Given the description of an element on the screen output the (x, y) to click on. 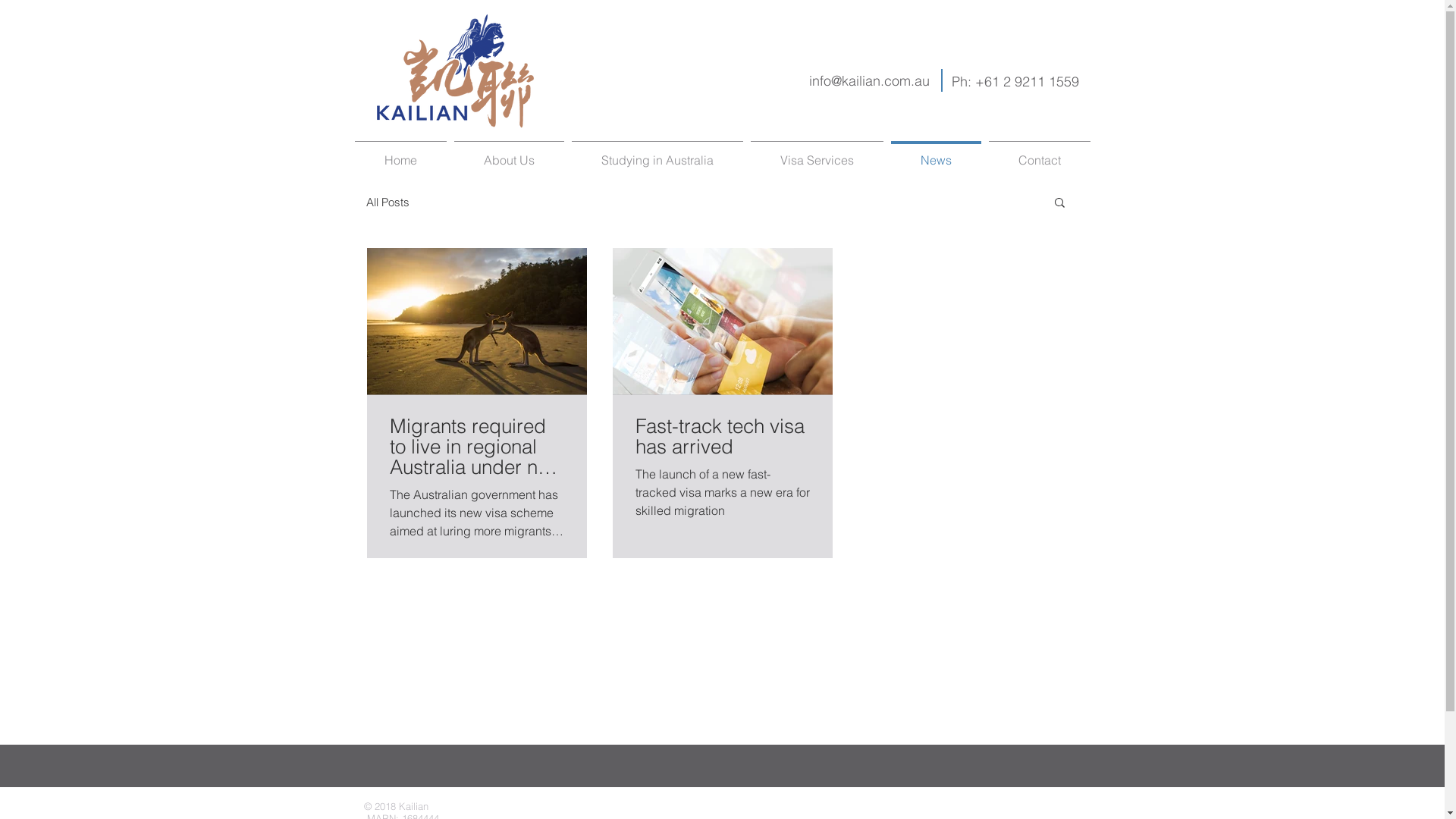
Fast-track tech visa has arrived Element type: text (722, 436)
Studying in Australia Element type: text (656, 153)
News Element type: text (936, 153)
info@kailian.com.au Element type: text (868, 80)
About Us Element type: text (508, 153)
Home Element type: text (399, 153)
All Posts Element type: text (386, 201)
Visa Services Element type: text (816, 153)
Contact Element type: text (1038, 153)
